Given the description of an element on the screen output the (x, y) to click on. 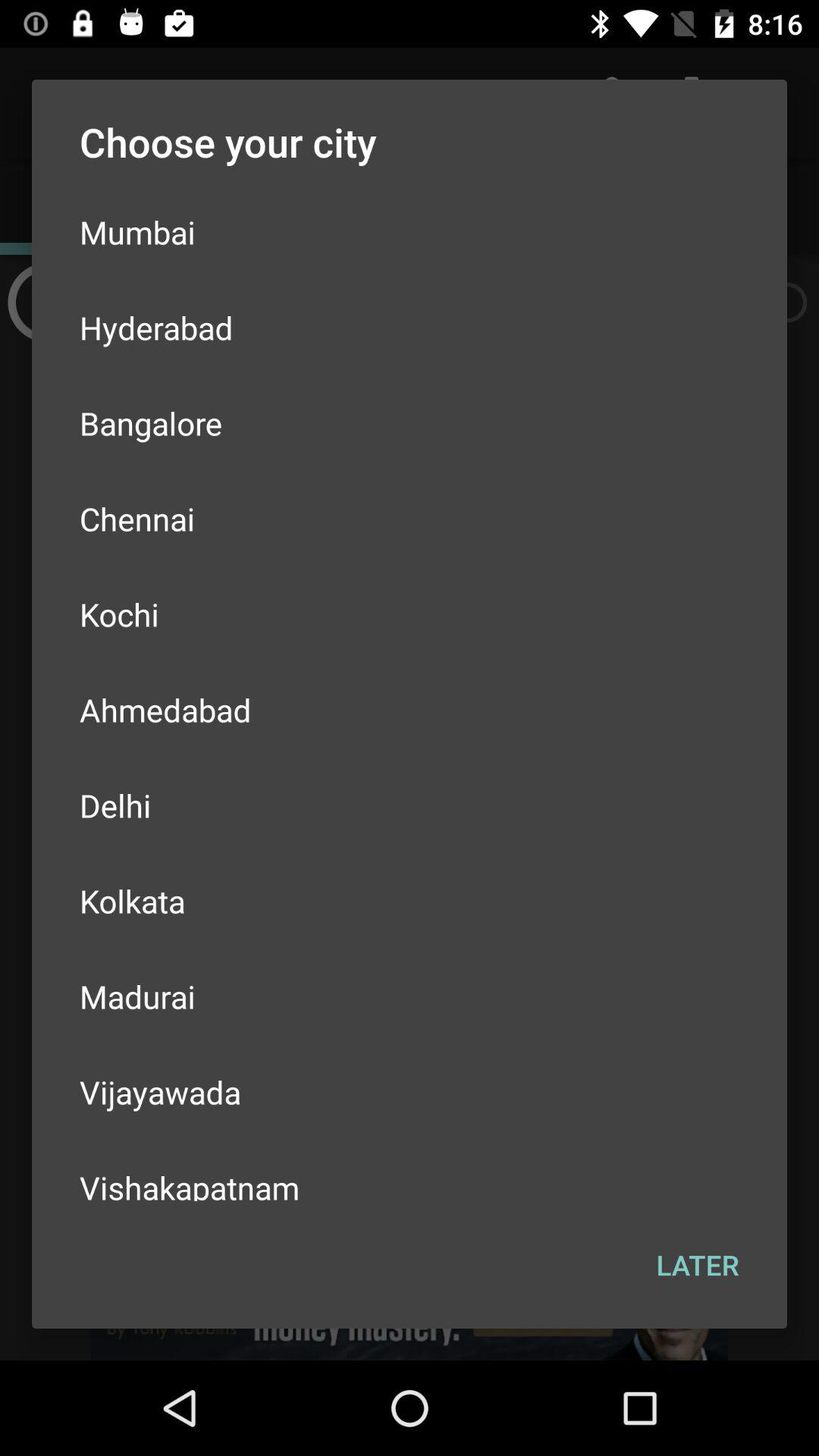
select madurai item (409, 996)
